Given the description of an element on the screen output the (x, y) to click on. 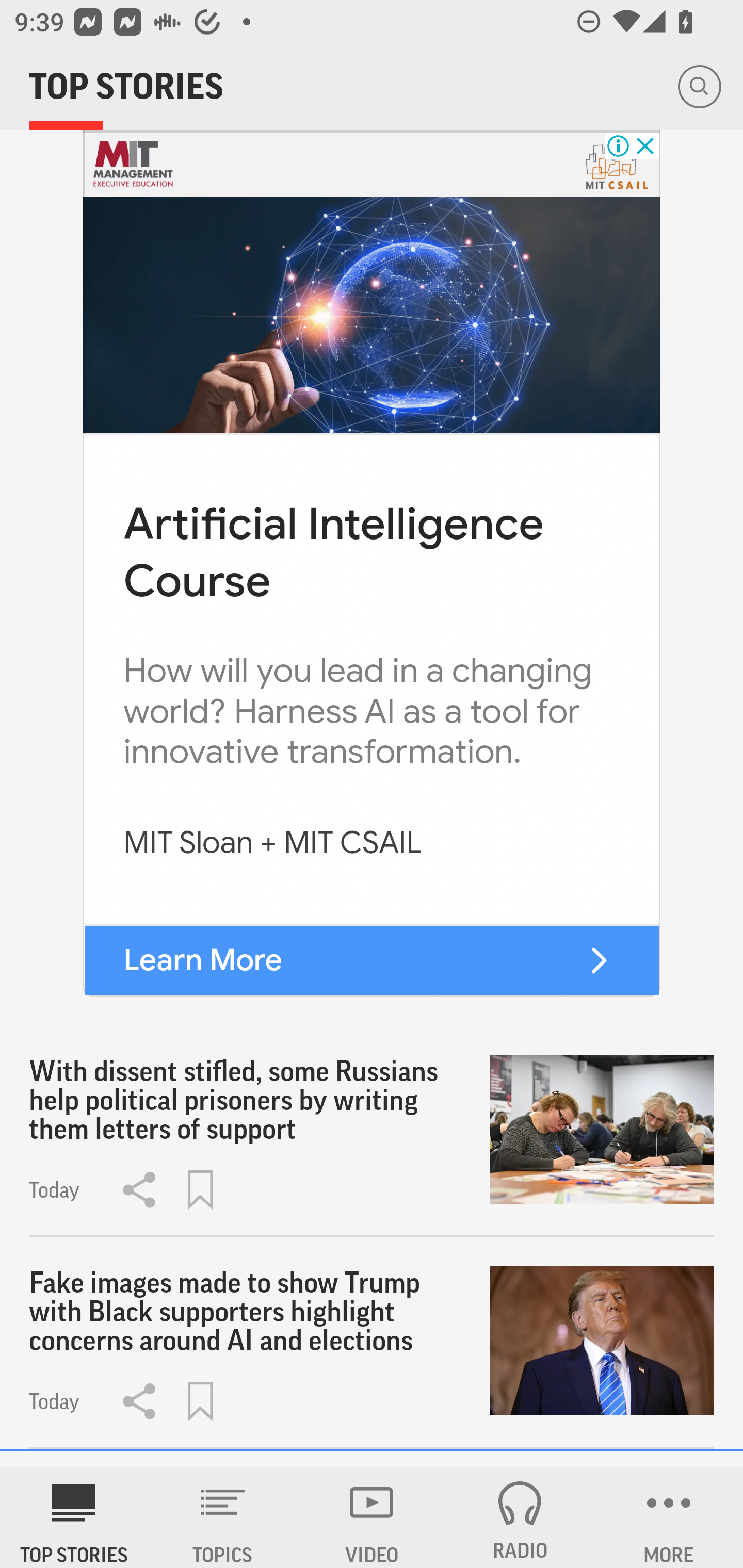
MIT Sloan + MIT CSAIL (272, 843)
Learn More (202, 960)
AP News TOP STORIES (74, 1517)
TOPICS (222, 1517)
VIDEO (371, 1517)
RADIO (519, 1517)
MORE (668, 1517)
